Given the description of an element on the screen output the (x, y) to click on. 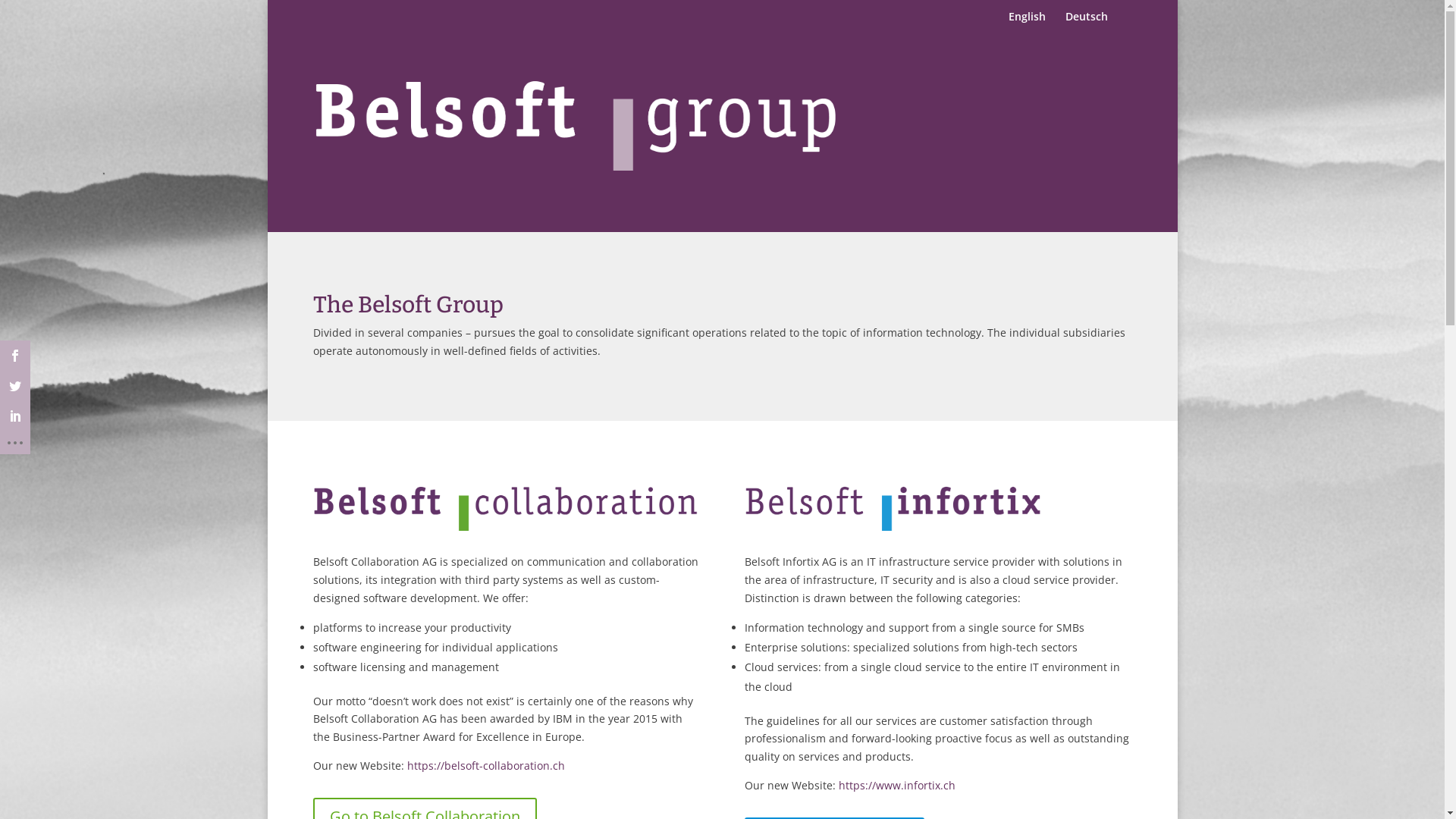
https://belsoft-collaboration.ch Element type: text (485, 765)
https://www.infortix.ch Element type: text (896, 785)
Deutsch Element type: text (1085, 22)
English Element type: text (1026, 22)
